Given the description of an element on the screen output the (x, y) to click on. 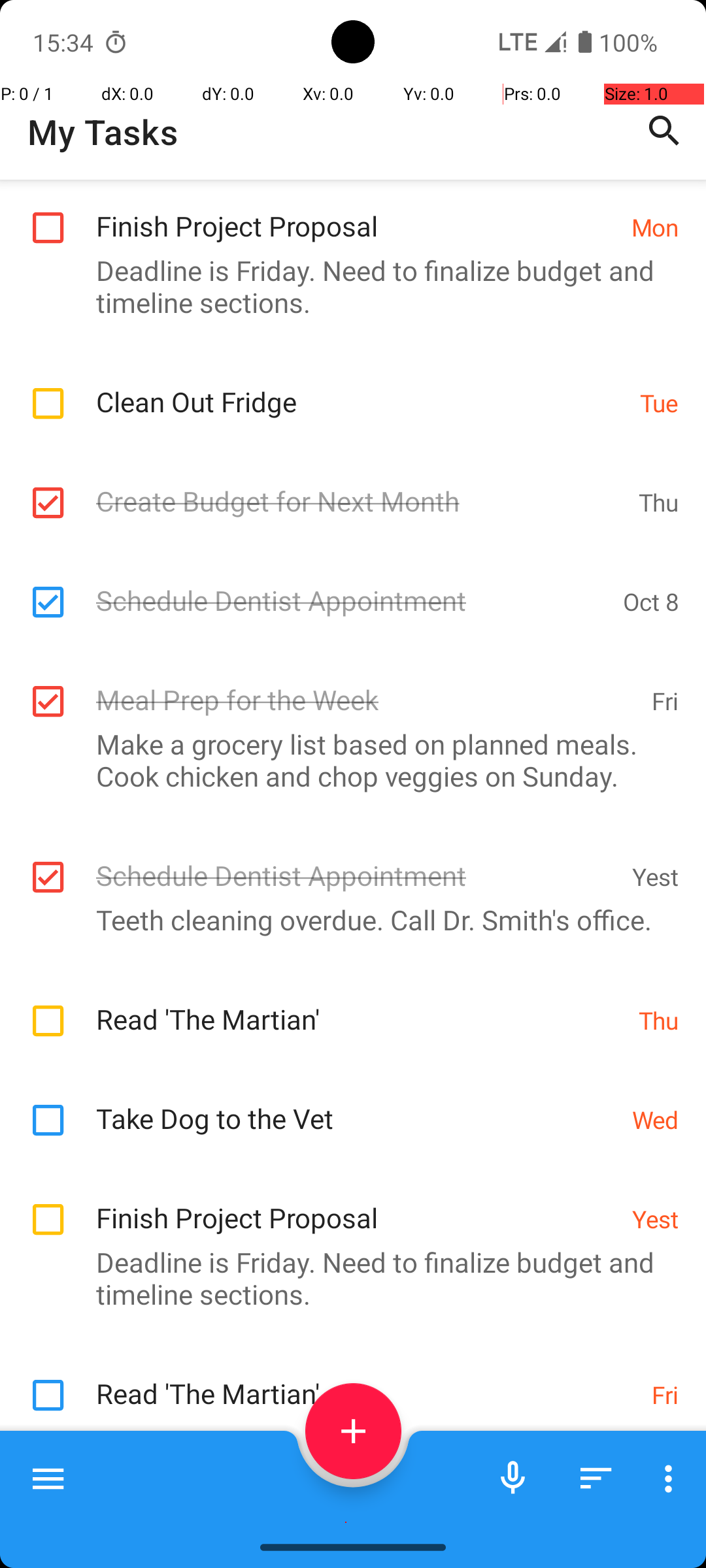
Deadline is Friday. Need to finalize budget and timeline sections. Element type: android.widget.TextView (346, 285)
Make a grocery list based on planned meals. Cook chicken and chop veggies on Sunday. Element type: android.widget.TextView (346, 759)
Teeth cleaning overdue. Call Dr. Smith's office. Element type: android.widget.TextView (346, 919)
